Given the description of an element on the screen output the (x, y) to click on. 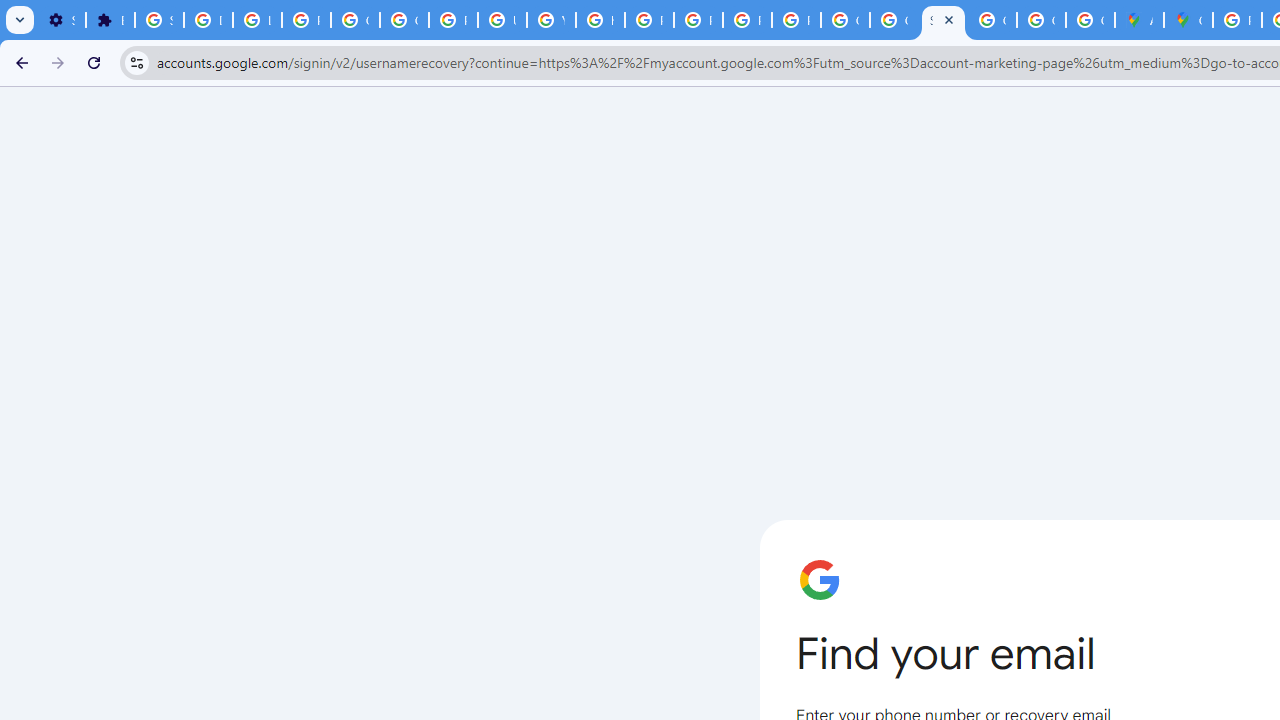
Create your Google Account (1090, 20)
Sign in - Google Accounts (159, 20)
Google Account Help (404, 20)
Google Account Help (355, 20)
Sign in - Google Accounts (943, 20)
https://scholar.google.com/ (600, 20)
Privacy Help Center - Policies Help (649, 20)
